Given the description of an element on the screen output the (x, y) to click on. 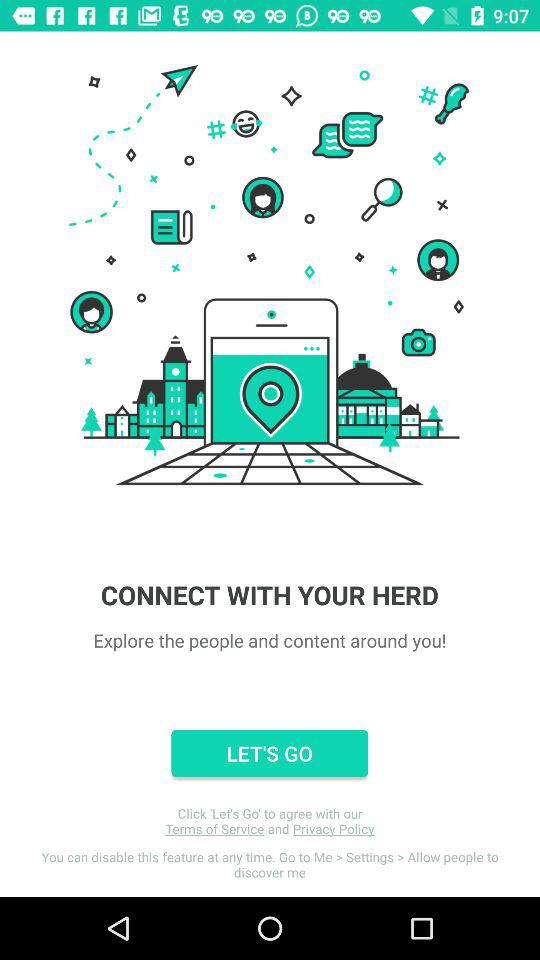
turn off the icon above the you can disable icon (269, 821)
